Given the description of an element on the screen output the (x, y) to click on. 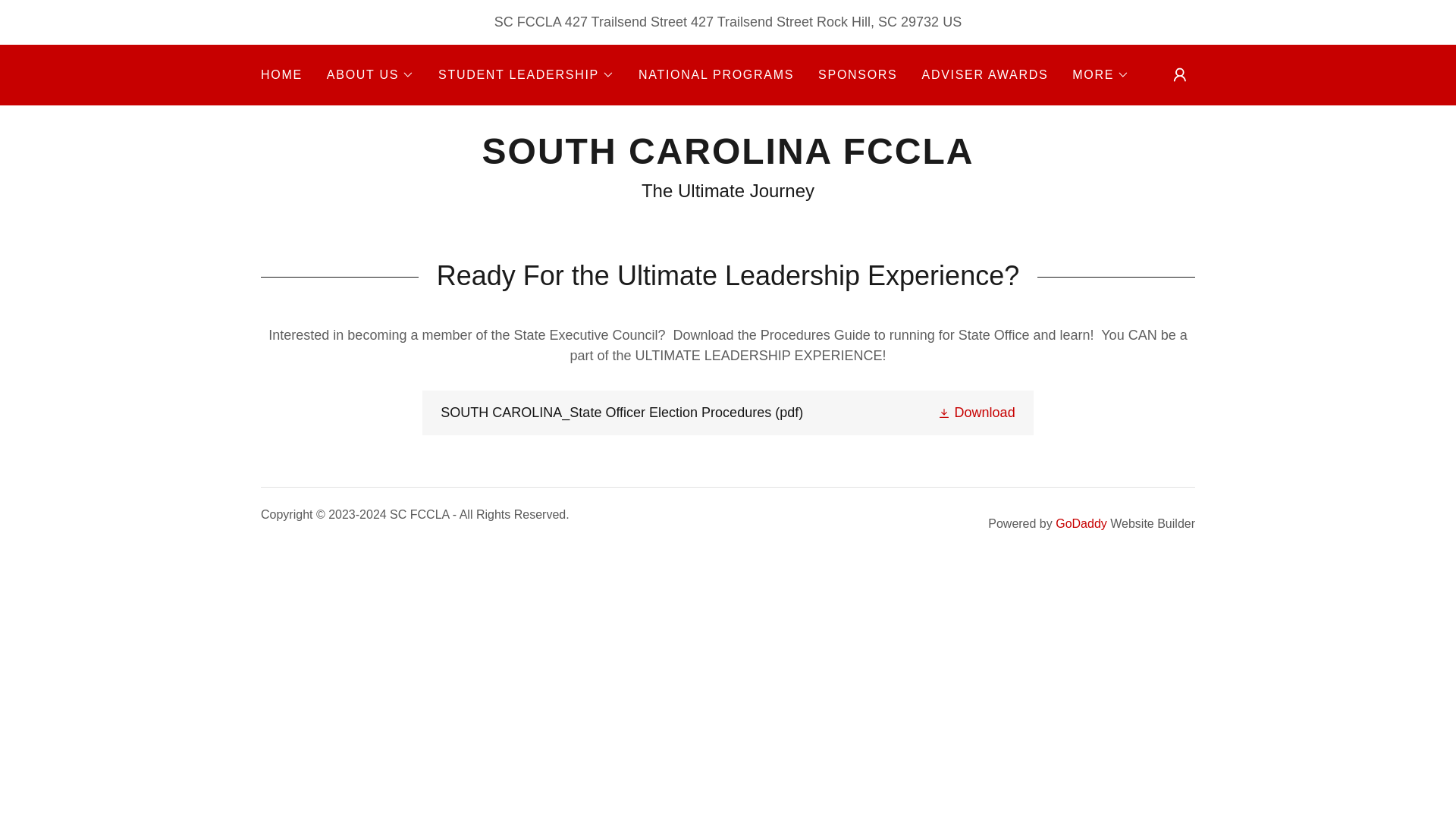
HOME (281, 74)
ABOUT US (369, 75)
MORE (1100, 75)
NATIONAL PROGRAMS (715, 74)
SOUTH CAROLINA  FCCLA (727, 159)
ADVISER AWARDS (984, 74)
STUDENT LEADERSHIP (526, 75)
SPONSORS (857, 74)
